Given the description of an element on the screen output the (x, y) to click on. 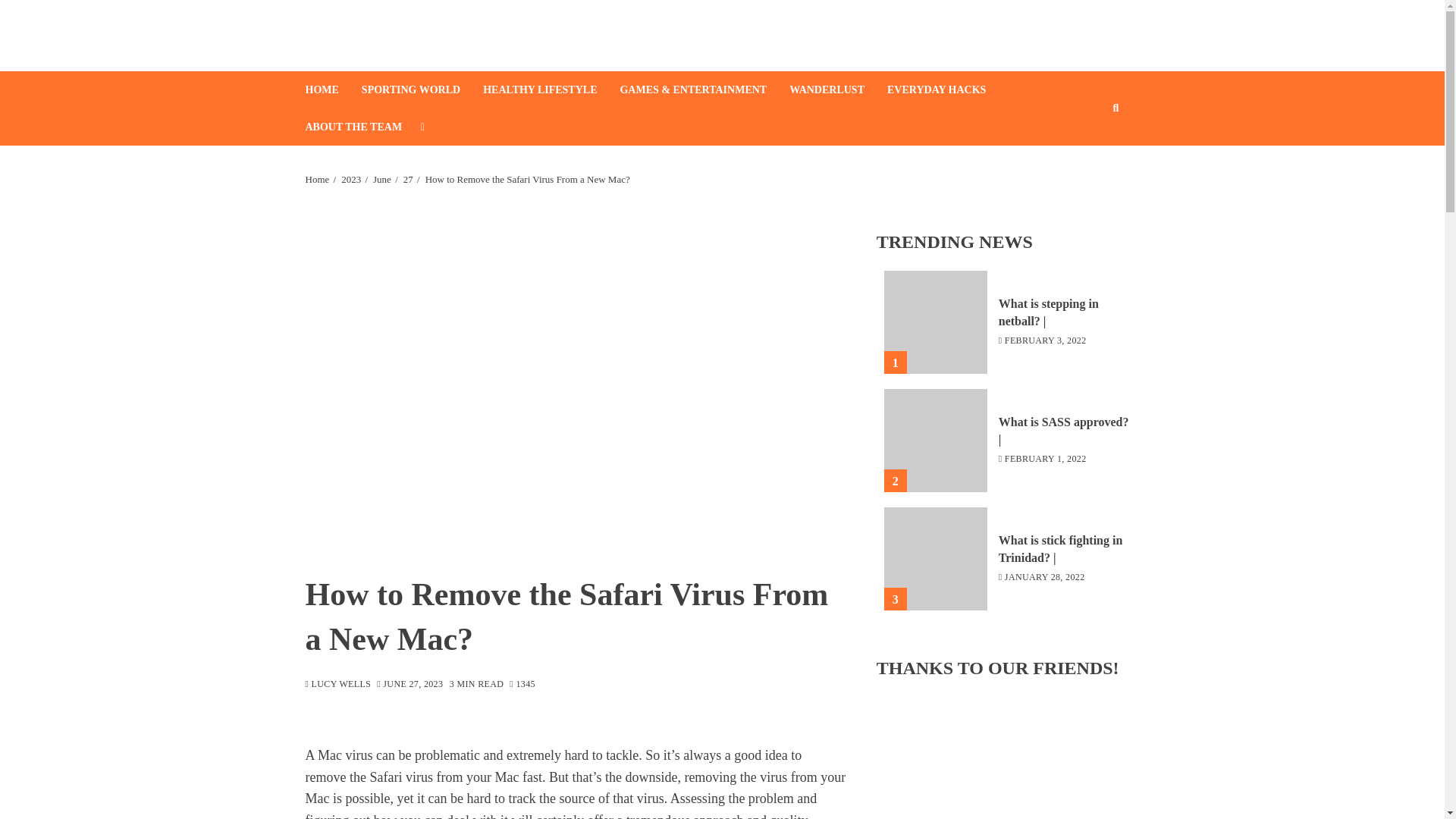
HOME (332, 89)
2023 (350, 179)
WANDERLUST (837, 89)
SPORTING WORLD (422, 89)
ABOUT THE TEAM (364, 126)
LUCY WELLS (337, 684)
How to Remove the Safari Virus From a New Mac? (527, 179)
Home (316, 179)
Search (1092, 154)
HEALTHY LIFESTYLE (551, 89)
